Given the description of an element on the screen output the (x, y) to click on. 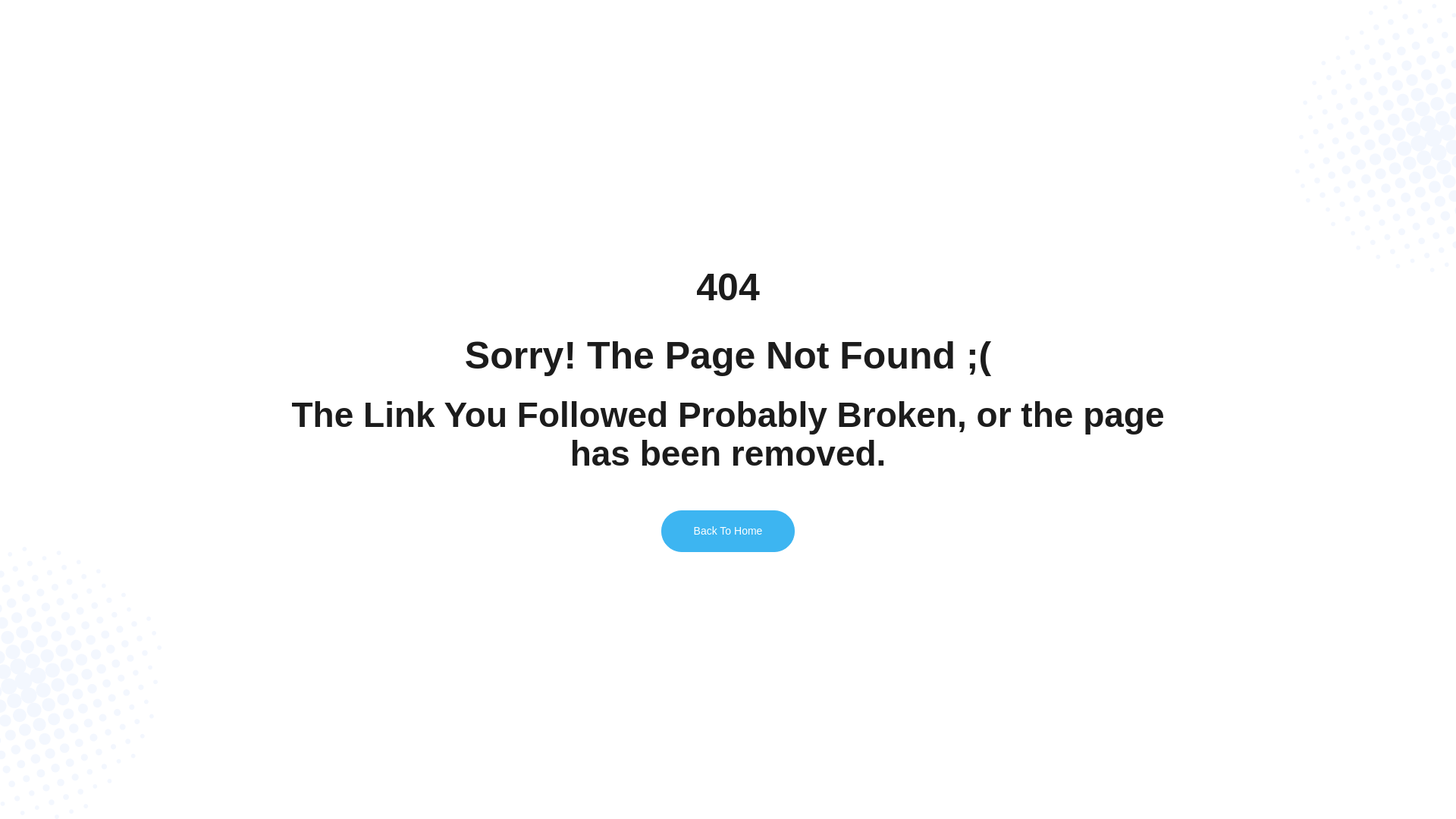
Back To Home Element type: text (728, 531)
